Given the description of an element on the screen output the (x, y) to click on. 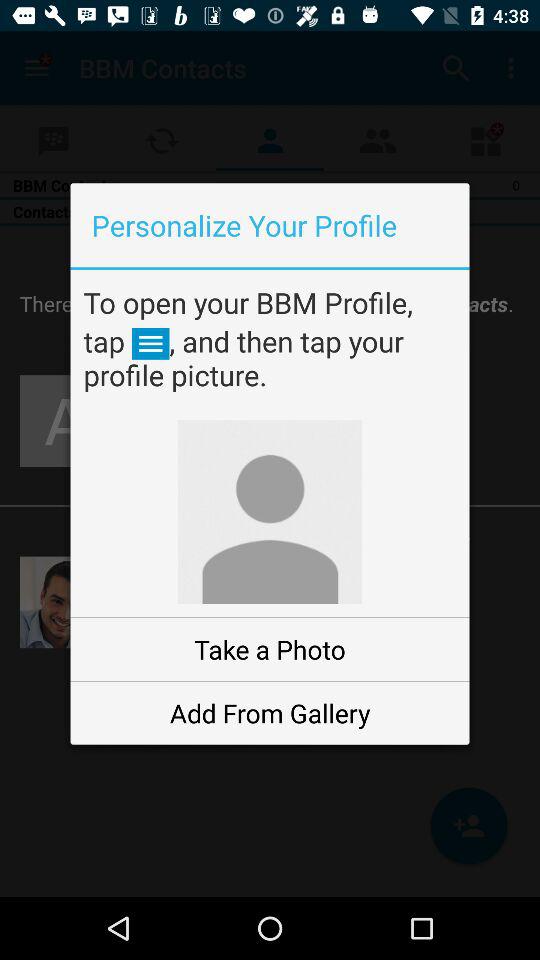
select add from gallery (269, 712)
